Given the description of an element on the screen output the (x, y) to click on. 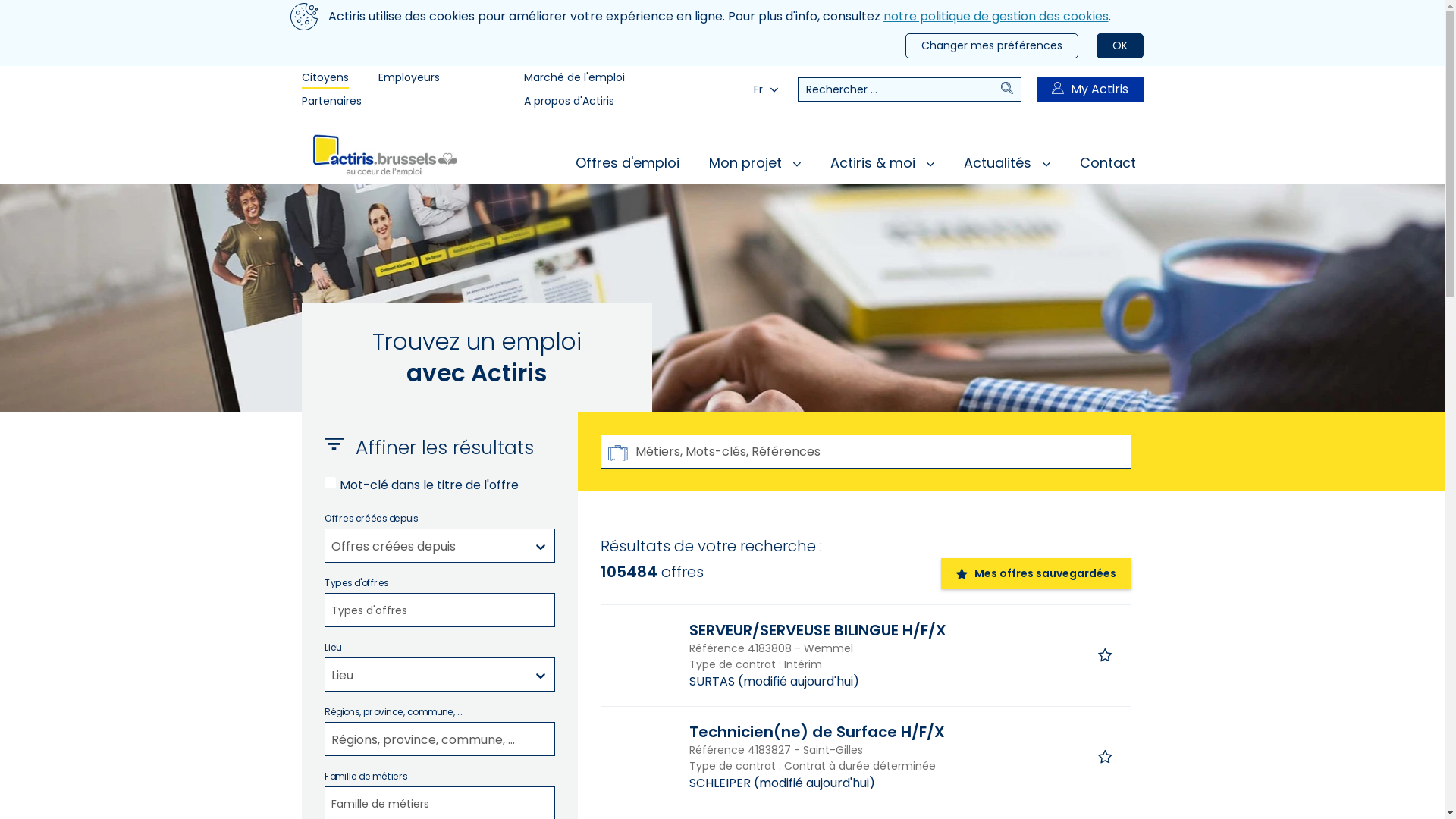
A propos d'Actiris Element type: text (568, 100)
Employeurs Element type: text (408, 77)
Citoyens Element type: text (325, 77)
Technicien(ne) de Surface H/F/X Element type: text (816, 731)
Contact Element type: text (1107, 162)
SERVEUR/SERVEUSE BILINGUE H/F/X Element type: text (817, 630)
Actiris & moi Element type: text (881, 162)
Offres d'emploi Element type: text (626, 162)
notre politique de gestion des cookies Element type: text (994, 16)
My Actiris Element type: text (1088, 89)
Rechercher Element type: text (1010, 89)
OK Element type: text (1119, 45)
Partenaires Element type: text (331, 100)
Fr Element type: text (765, 89)
Mon projet Element type: text (753, 162)
Rechercher Element type: hover (899, 89)
Aller au contenu principal Element type: text (0, 0)
